Given the description of an element on the screen output the (x, y) to click on. 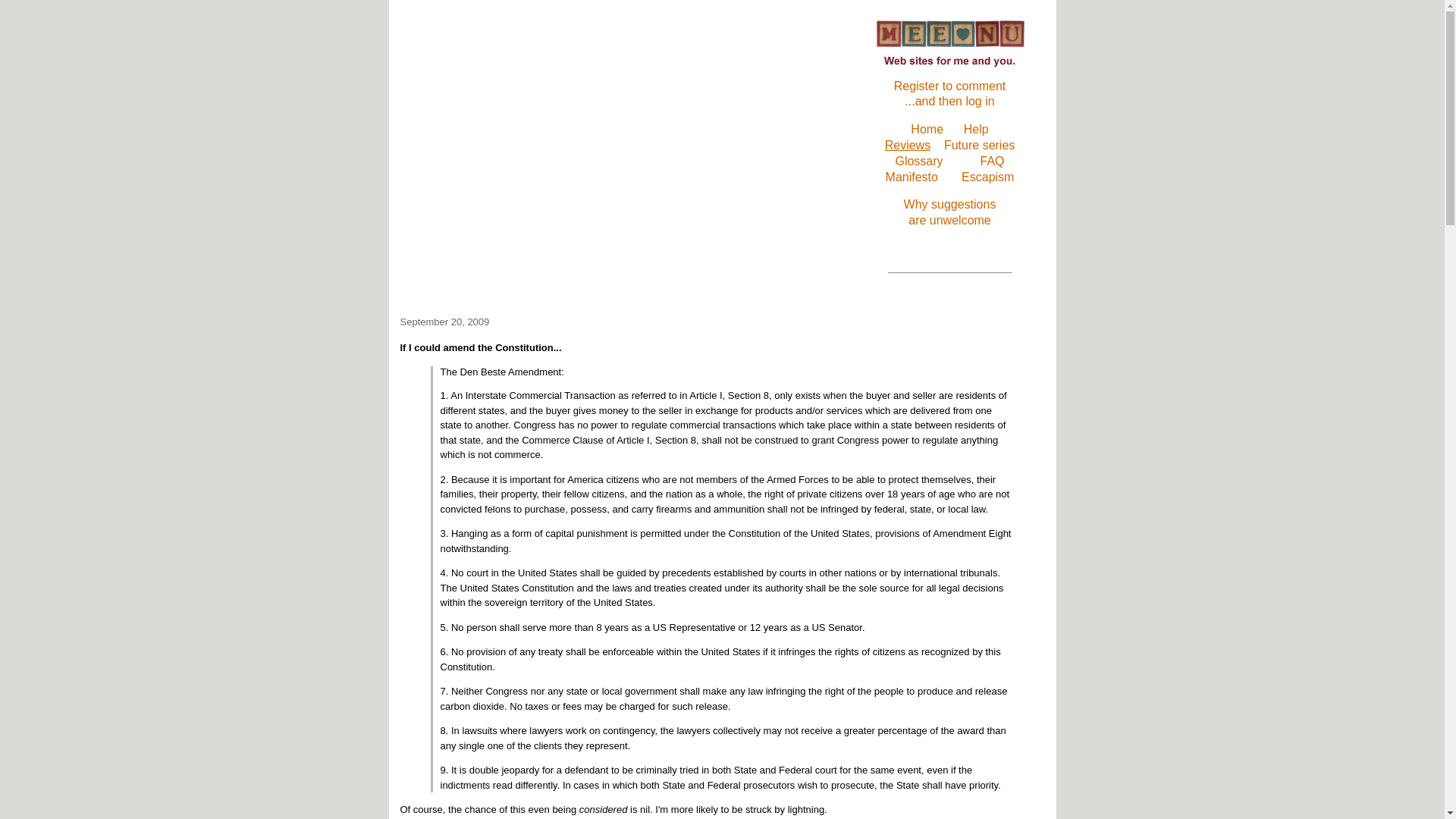
Register to comment (949, 85)
Glossary (918, 160)
Home (927, 128)
Escapism (986, 175)
Manifesto (911, 175)
Reviews (907, 144)
Help (975, 128)
...and then log in (949, 101)
Future series (949, 212)
FAQ (978, 144)
